Given the description of an element on the screen output the (x, y) to click on. 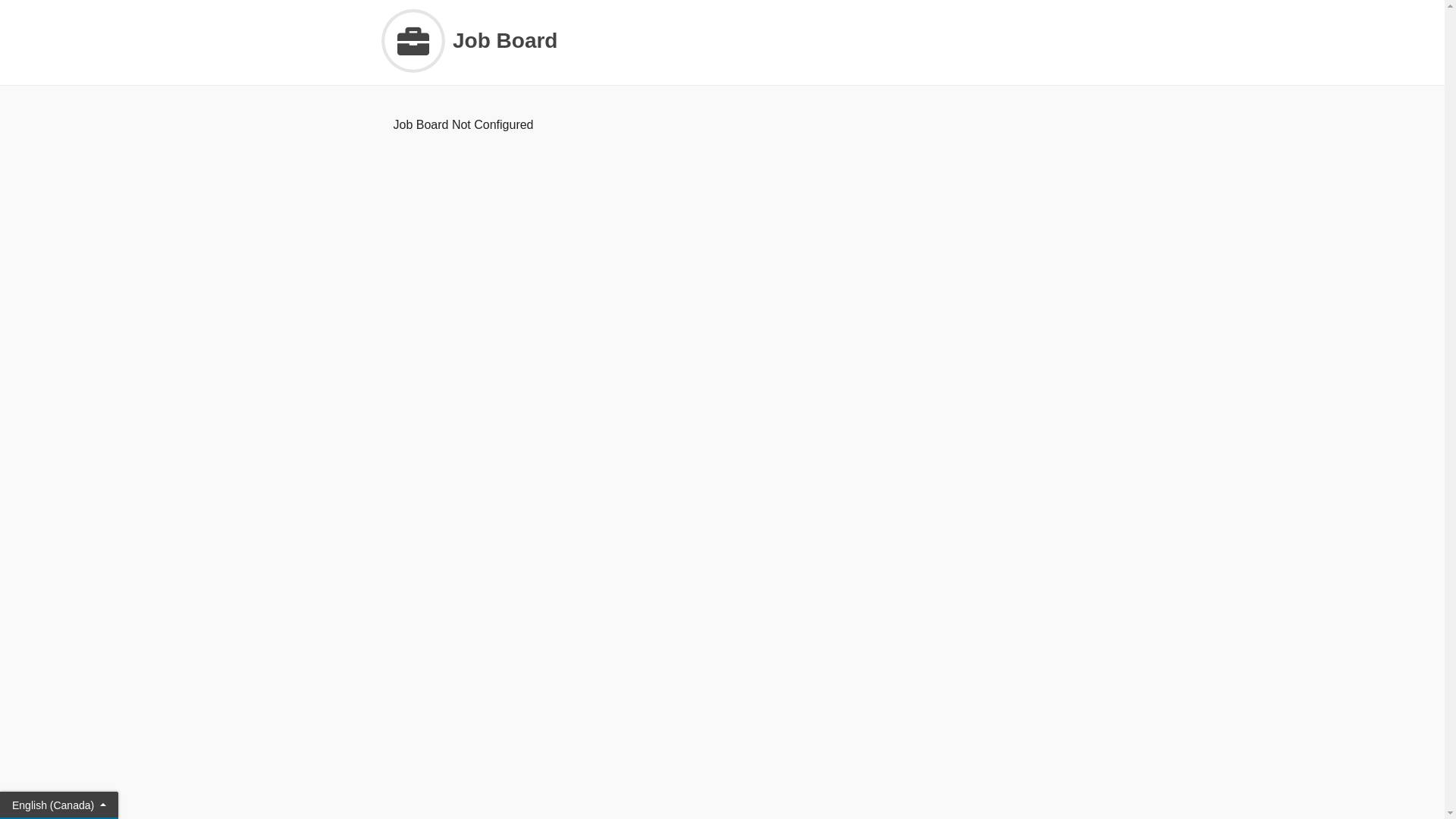
Job Board Element type: text (722, 40)
